Given the description of an element on the screen output the (x, y) to click on. 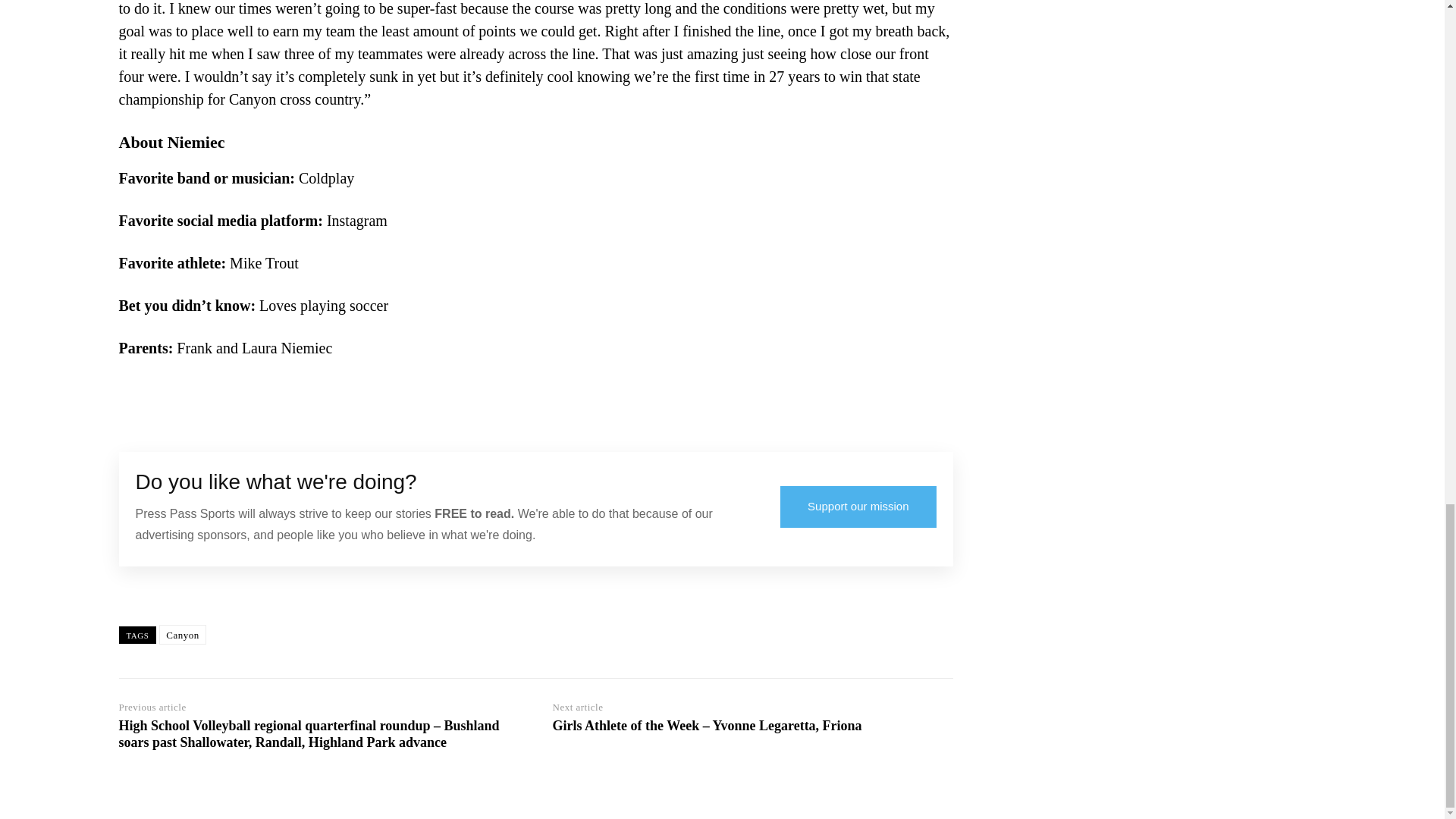
Support our mission (858, 506)
Support our mission (858, 506)
Canyon (181, 634)
